Given the description of an element on the screen output the (x, y) to click on. 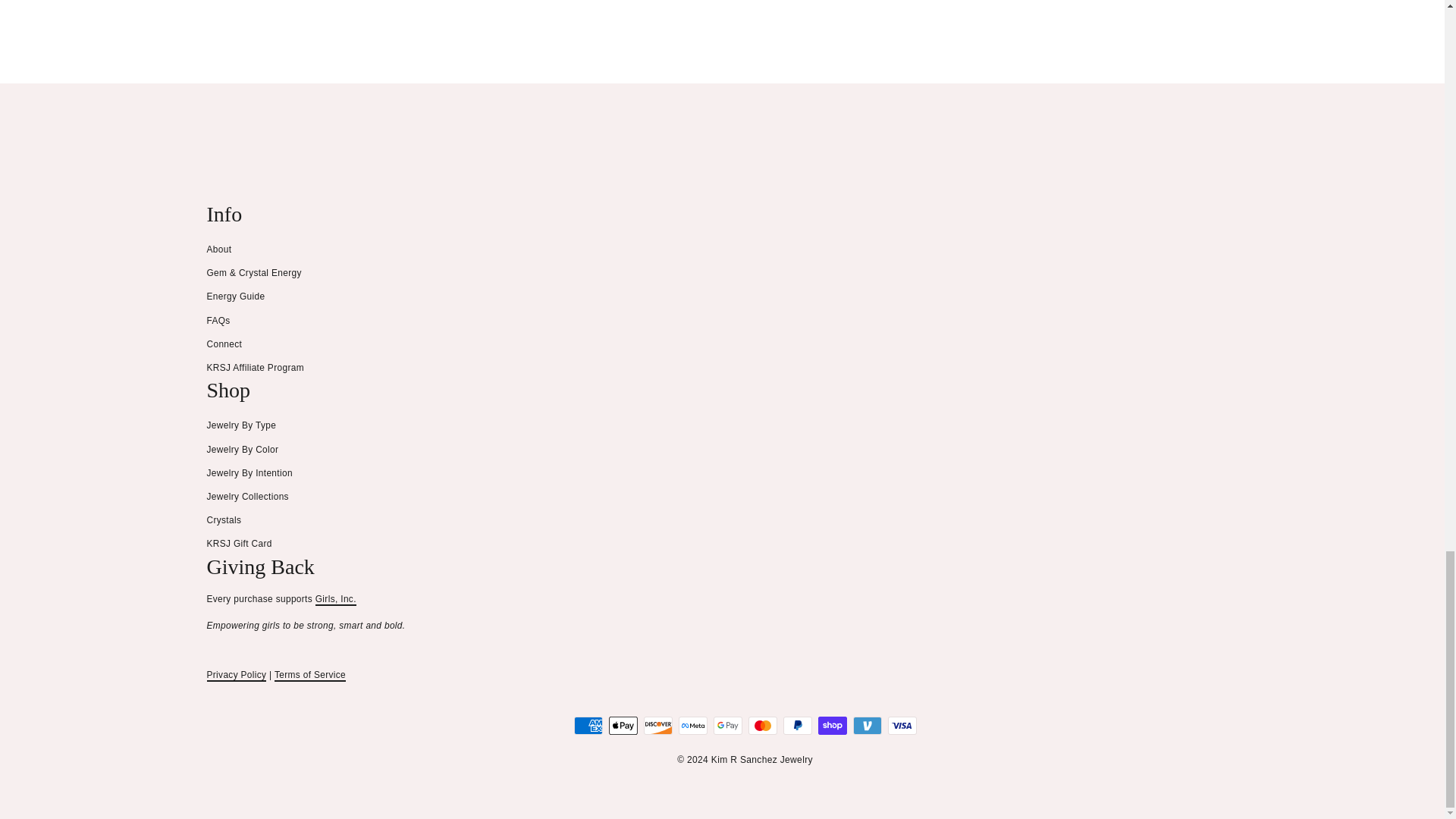
Mastercard (762, 725)
Privacy Policy (236, 675)
American Express (587, 725)
Discover (657, 725)
PayPal (796, 725)
Google Pay (727, 725)
Shop Pay (830, 725)
Meta Pay (692, 725)
Visa (900, 725)
Apple Pay (622, 725)
Venmo (865, 725)
Terms of Service (310, 675)
